Given the description of an element on the screen output the (x, y) to click on. 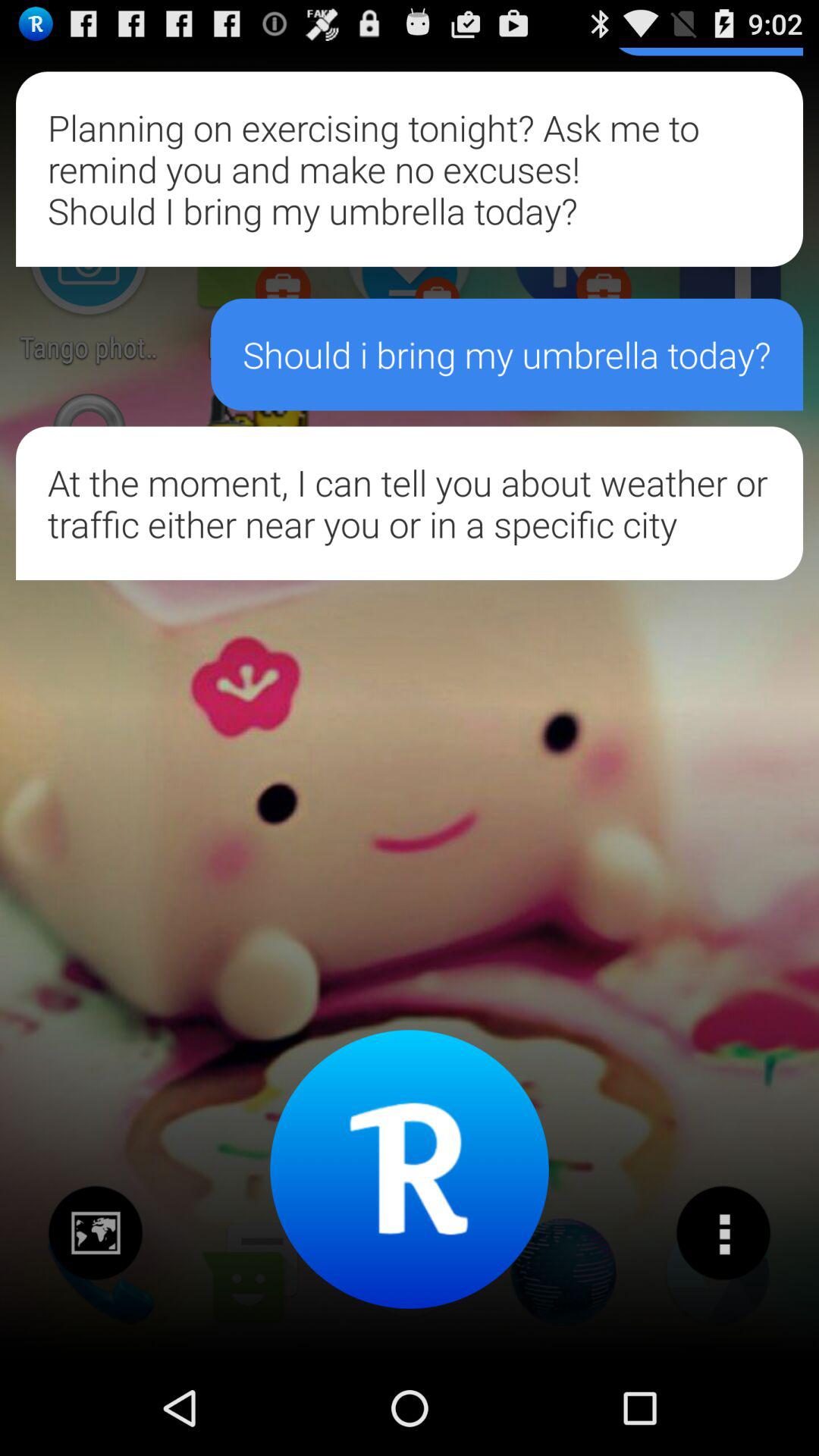
click to get more information (723, 1232)
